Given the description of an element on the screen output the (x, y) to click on. 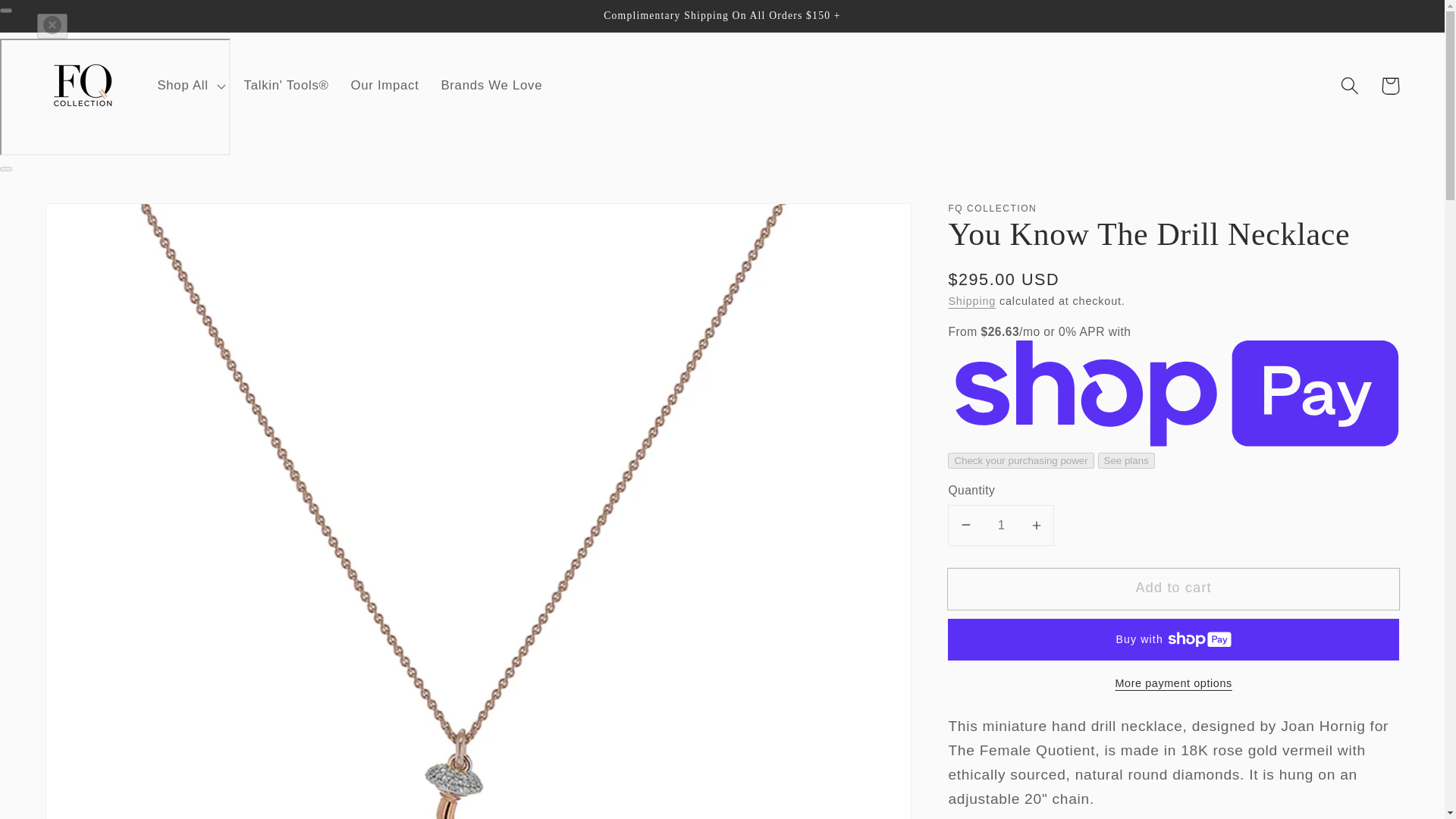
Skip to product information (99, 222)
Cart (1390, 86)
Add to cart (1173, 588)
Decrease quantity for You Know The Drill Necklace (965, 525)
Shipping (971, 300)
More payment options (1173, 682)
Increase quantity for You Know The Drill Necklace (1035, 525)
Our Impact (384, 85)
Skip to content (53, 20)
1 (1000, 525)
Brands We Love (491, 85)
